Given the description of an element on the screen output the (x, y) to click on. 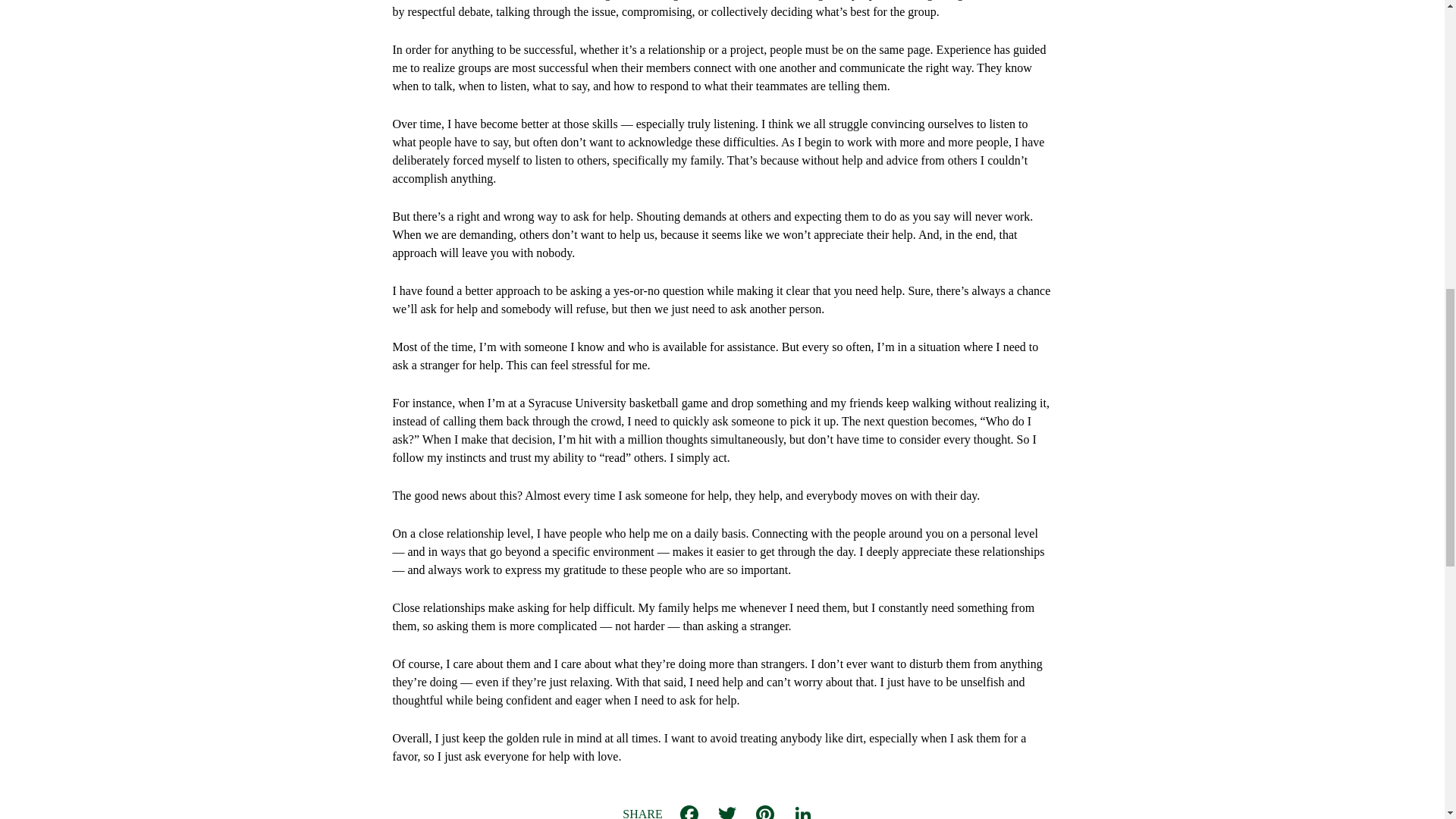
Facebook (689, 810)
Twitter (726, 810)
Pinterest (764, 810)
LinkedIn (802, 810)
